Given the description of an element on the screen output the (x, y) to click on. 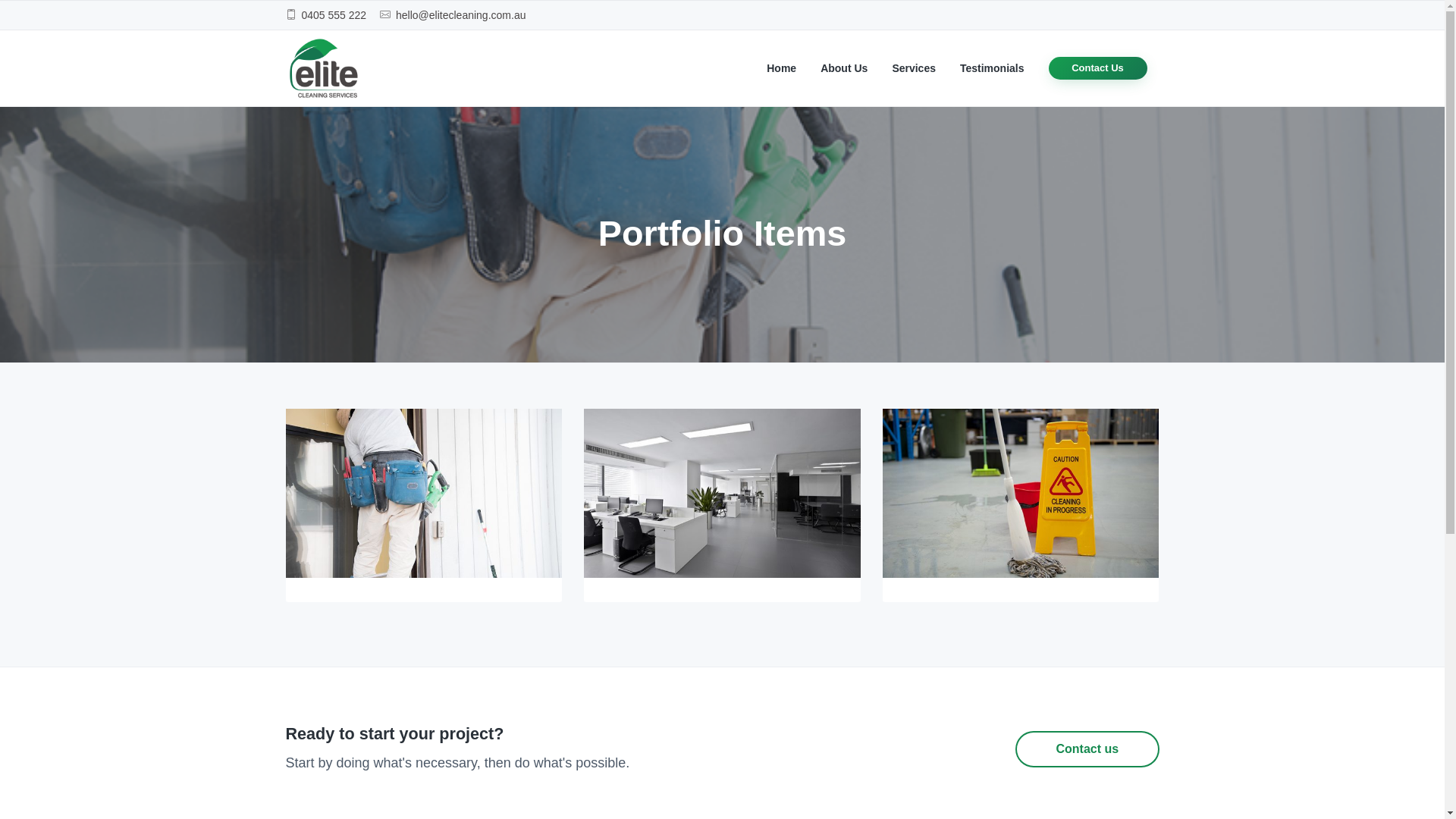
Skip to primary navigation Element type: text (0, 0)
Contact Us Element type: text (1097, 68)
Testimonials Element type: text (992, 68)
About Us Element type: text (843, 68)
Services Element type: text (913, 68)
Elite Cleaning Element type: text (289, 188)
Home Element type: text (781, 68)
Contact us Element type: text (1086, 749)
